Given the description of an element on the screen output the (x, y) to click on. 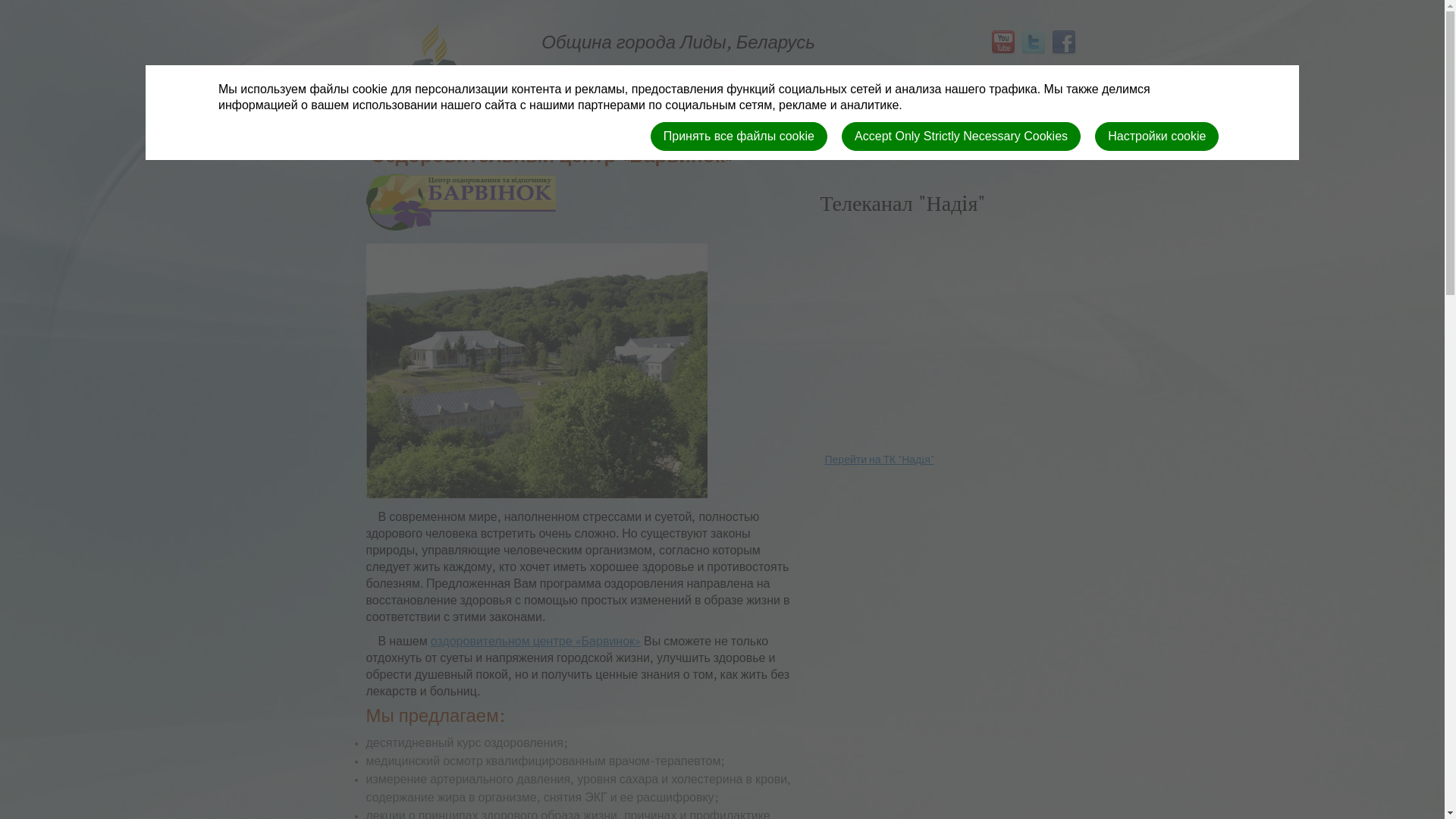
Youtube Channel Element type: hover (1001, 42)
Seventh-day Adventist Church logo Element type: hover (432, 89)
Twitter Feed Element type: hover (1031, 42)
Accept Only Strictly Necessary Cookies Element type: text (960, 136)
Facebook Page Element type: hover (1062, 42)
